Given the description of an element on the screen output the (x, y) to click on. 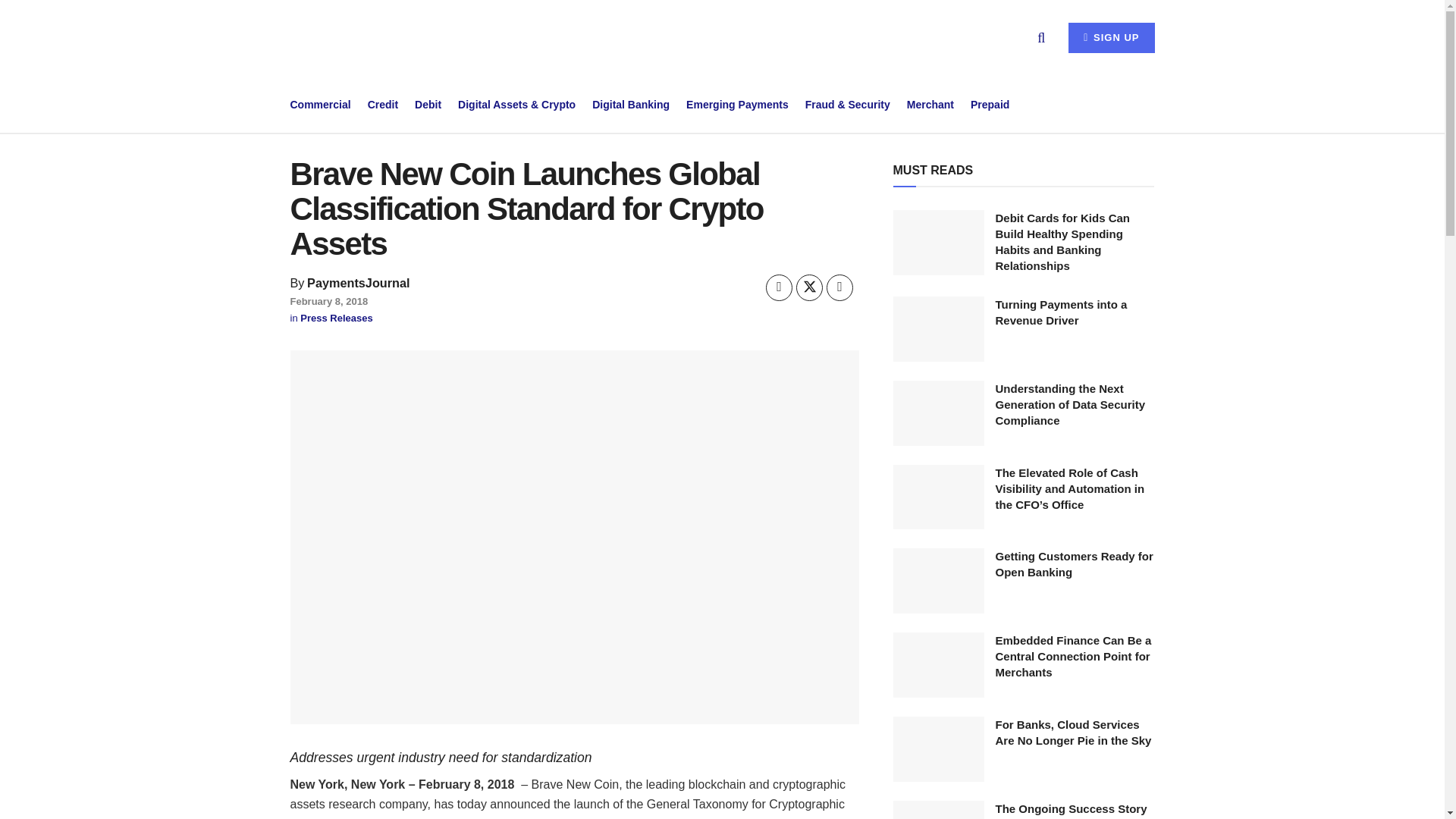
Commercial (319, 104)
Prepaid (990, 104)
Emerging Payments (737, 104)
Press Releases (335, 317)
SIGN UP (1111, 37)
Merchant (930, 104)
Debit (427, 104)
Digital Banking (630, 104)
February 8, 2018 (328, 301)
Credit (382, 104)
